Given the description of an element on the screen output the (x, y) to click on. 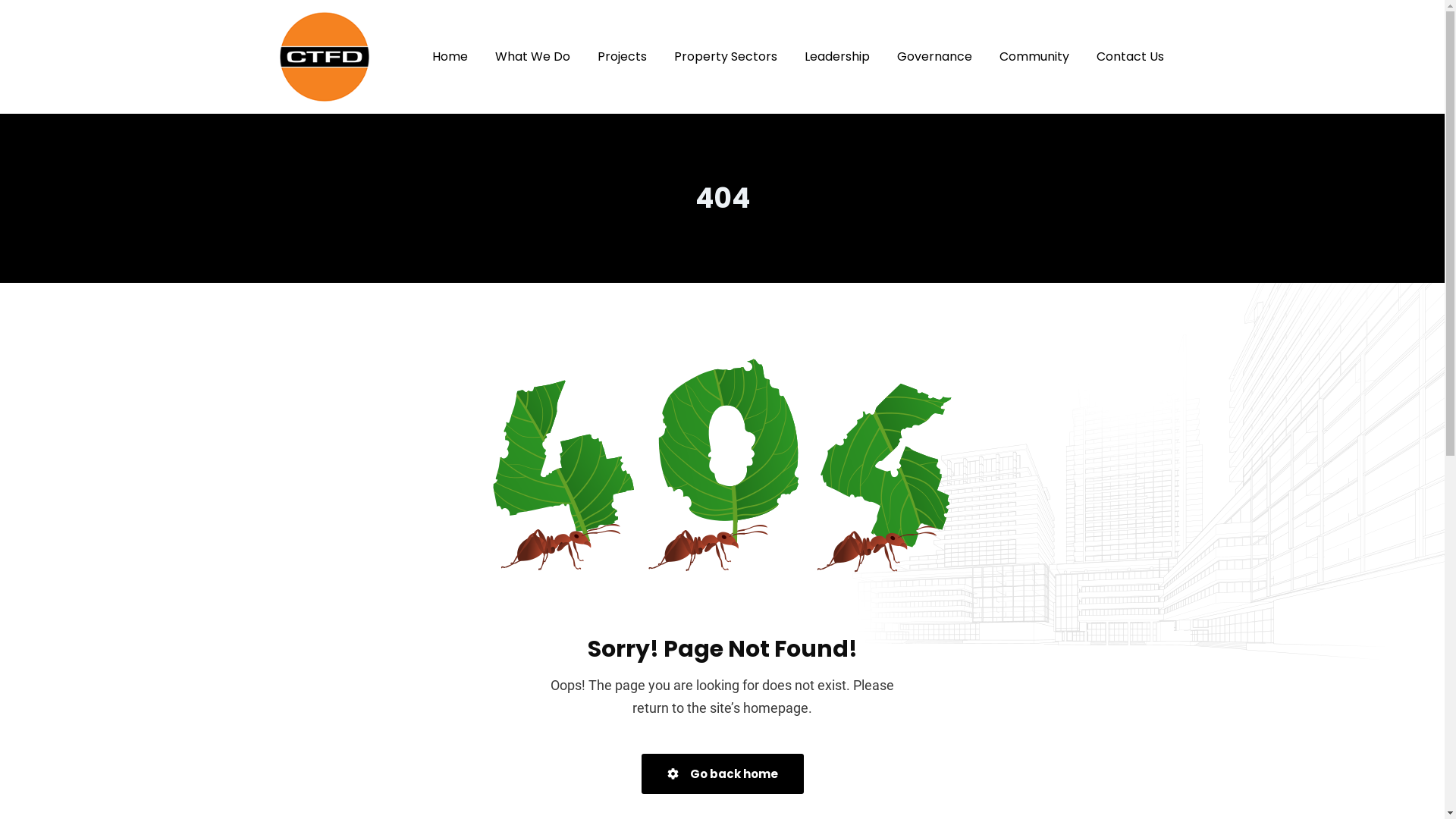
Contact Element type: text (645, 551)
Community Element type: text (1034, 56)
Governance Element type: text (933, 56)
About Us Element type: text (649, 392)
What We Do Element type: text (531, 56)
SUBMIT Element type: text (907, 690)
Delivery Element type: text (646, 524)
Home Element type: text (449, 56)
Contact Us Element type: text (1130, 56)
Projects Element type: text (646, 498)
Property Sectors Element type: text (724, 56)
Directors Element type: text (648, 471)
Property Sectors Element type: text (668, 445)
Home Element type: text (640, 365)
Leadership Element type: text (836, 56)
Go back home Element type: text (722, 773)
Latest News Element type: text (657, 418)
Projects Element type: text (621, 56)
